Given the description of an element on the screen output the (x, y) to click on. 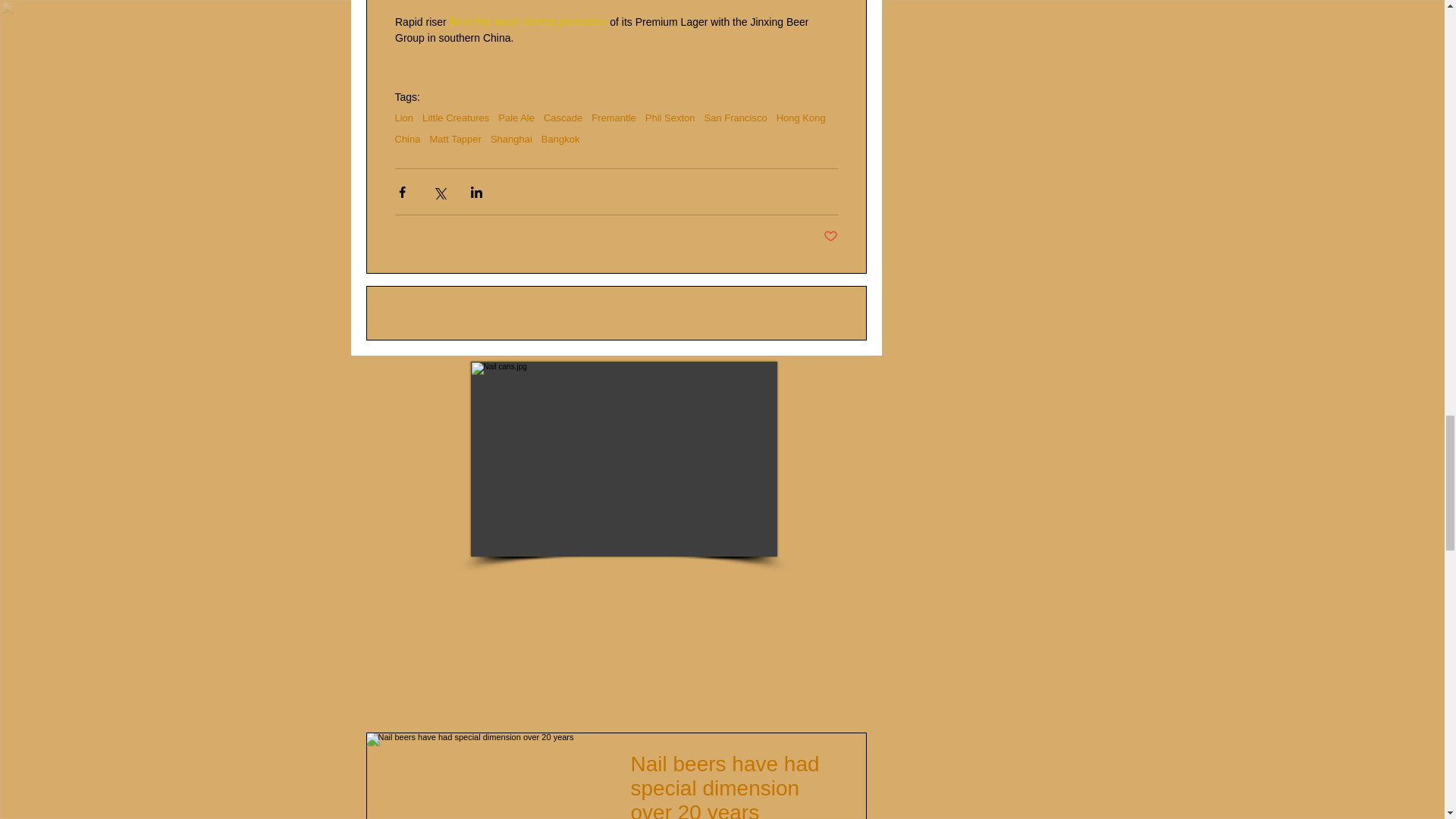
Nail beers have had special dimension over 20 years (734, 785)
Lion (403, 117)
Phil Sexton (670, 117)
Shanghai (511, 138)
Pale Ale (515, 117)
Bangkok (560, 138)
Broo this week started production  (529, 21)
Hong Kong (800, 117)
San Francisco (735, 117)
Post not marked as liked (831, 236)
Matt Tapper (454, 138)
China (407, 138)
Little Creatures (455, 117)
Fremantle (613, 117)
Cascade (562, 117)
